Given the description of an element on the screen output the (x, y) to click on. 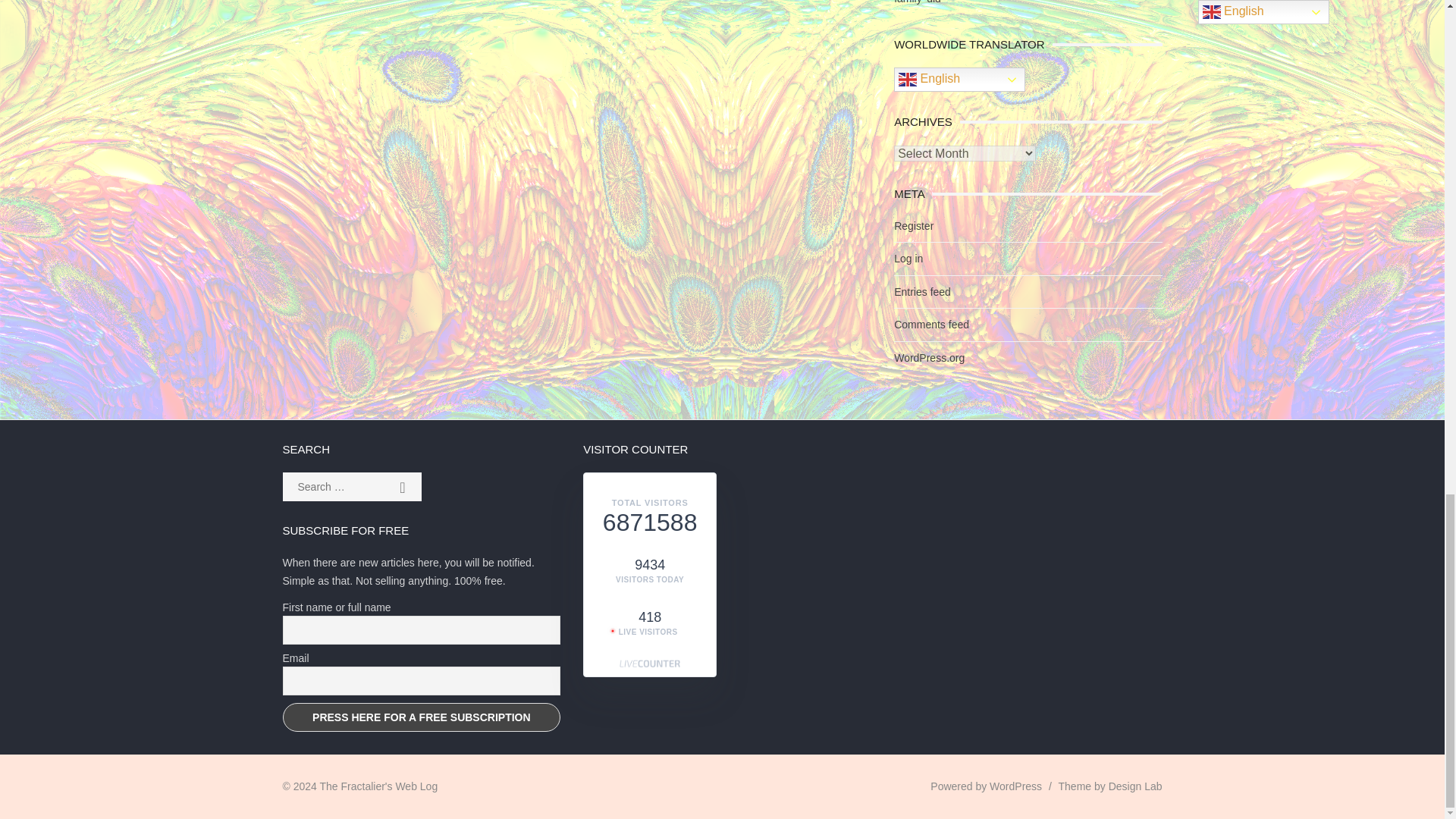
Press Here For A Free Subscription (421, 717)
